Given the description of an element on the screen output the (x, y) to click on. 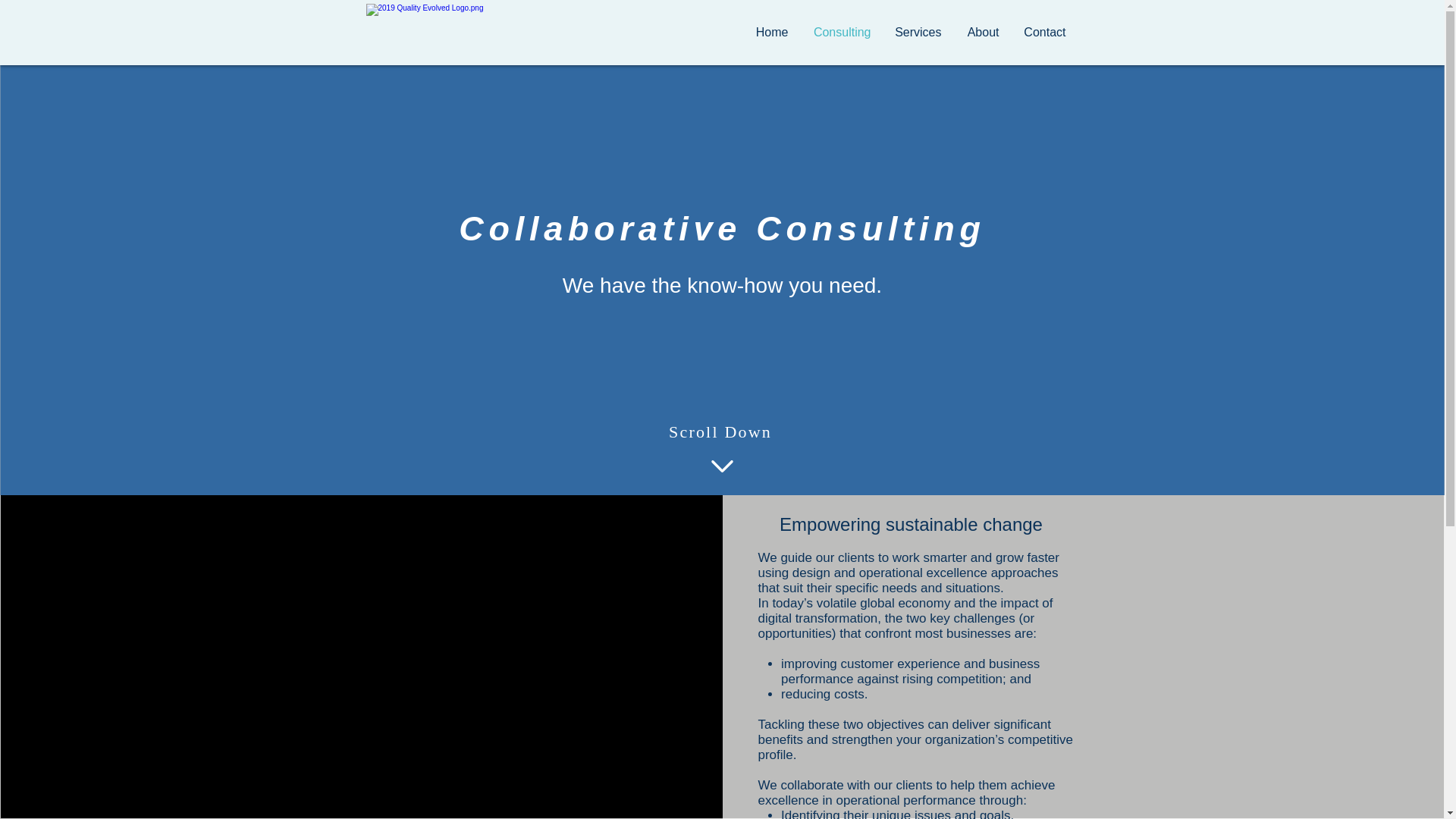
Services (917, 32)
About (981, 32)
Home (770, 32)
Consulting (840, 32)
Contact (1043, 32)
